Given the description of an element on the screen output the (x, y) to click on. 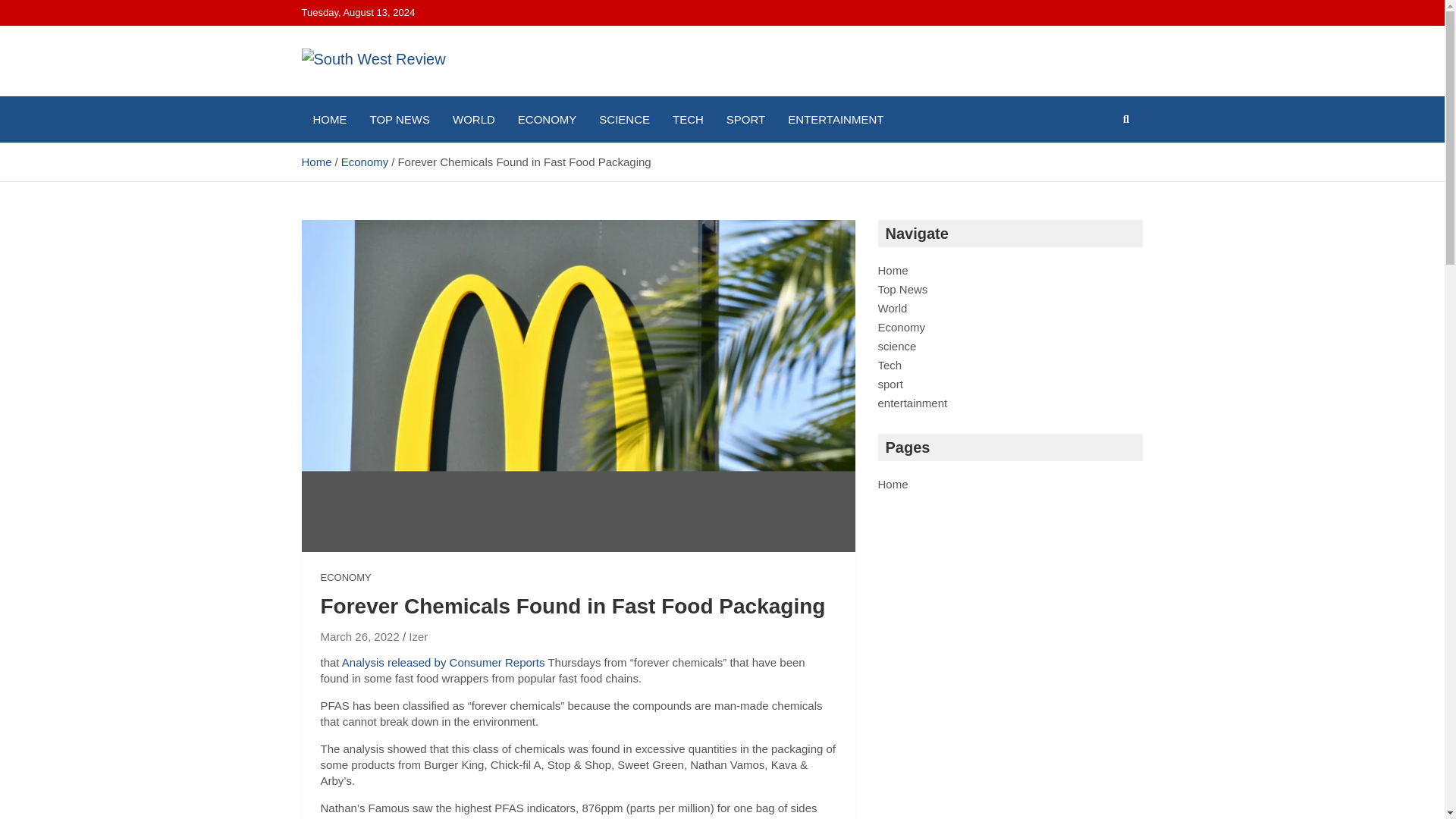
Home (892, 269)
Izer (418, 636)
Economy (364, 161)
Home (316, 161)
ECONOMY (345, 577)
Tech (889, 364)
South West Review (353, 132)
SPORT (745, 119)
WORLD (473, 119)
Top News (902, 288)
